Given the description of an element on the screen output the (x, y) to click on. 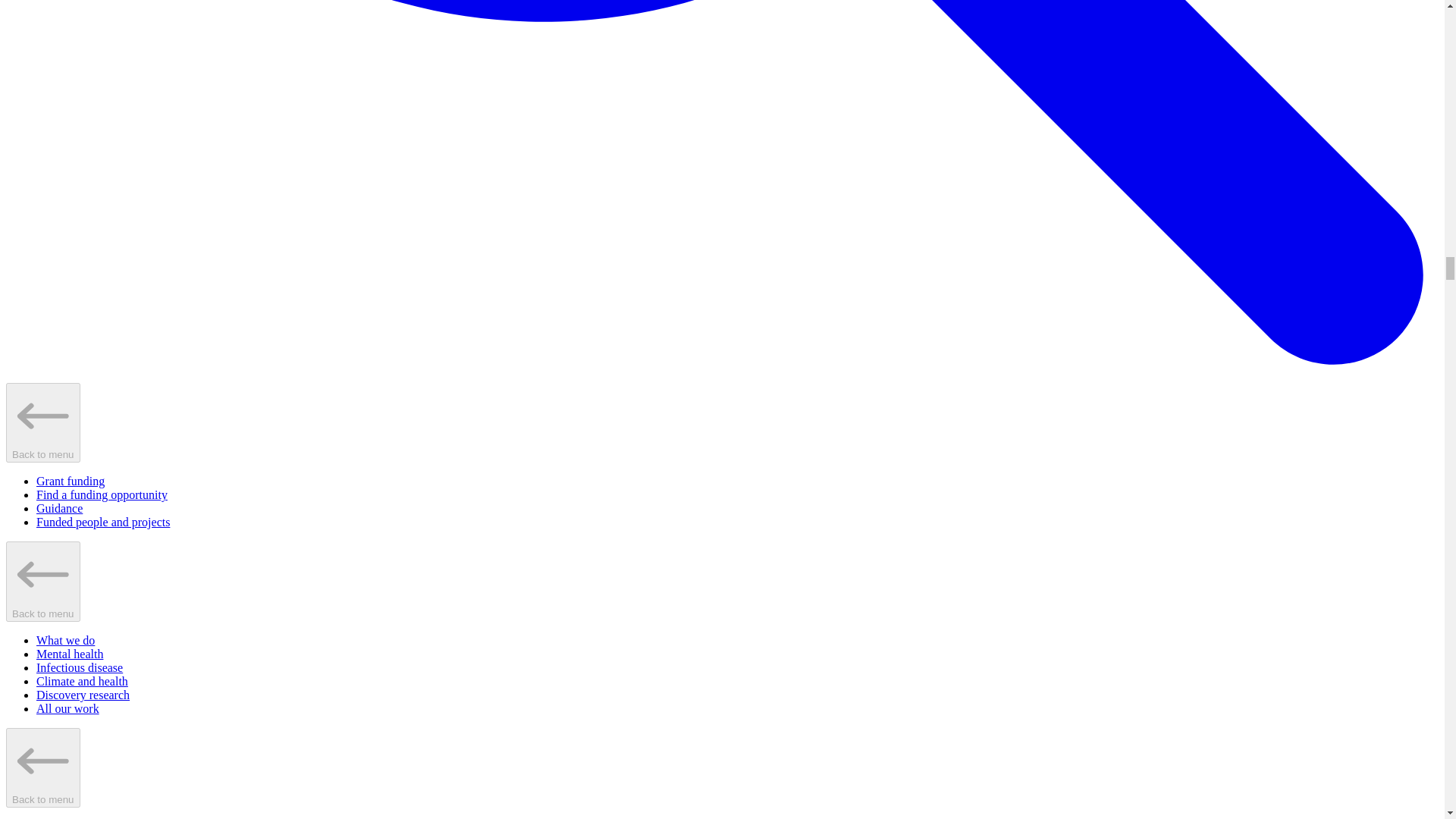
Funded people and projects (103, 521)
What we do (65, 640)
Infectious disease (79, 667)
Guidance (59, 508)
Climate and health (82, 680)
Discovery research (82, 694)
Mental health (69, 653)
Back to menu (42, 423)
Grant funding (70, 481)
Find a funding opportunity (101, 494)
All our work (67, 707)
Back to menu (42, 768)
Back to menu (42, 581)
